Given the description of an element on the screen output the (x, y) to click on. 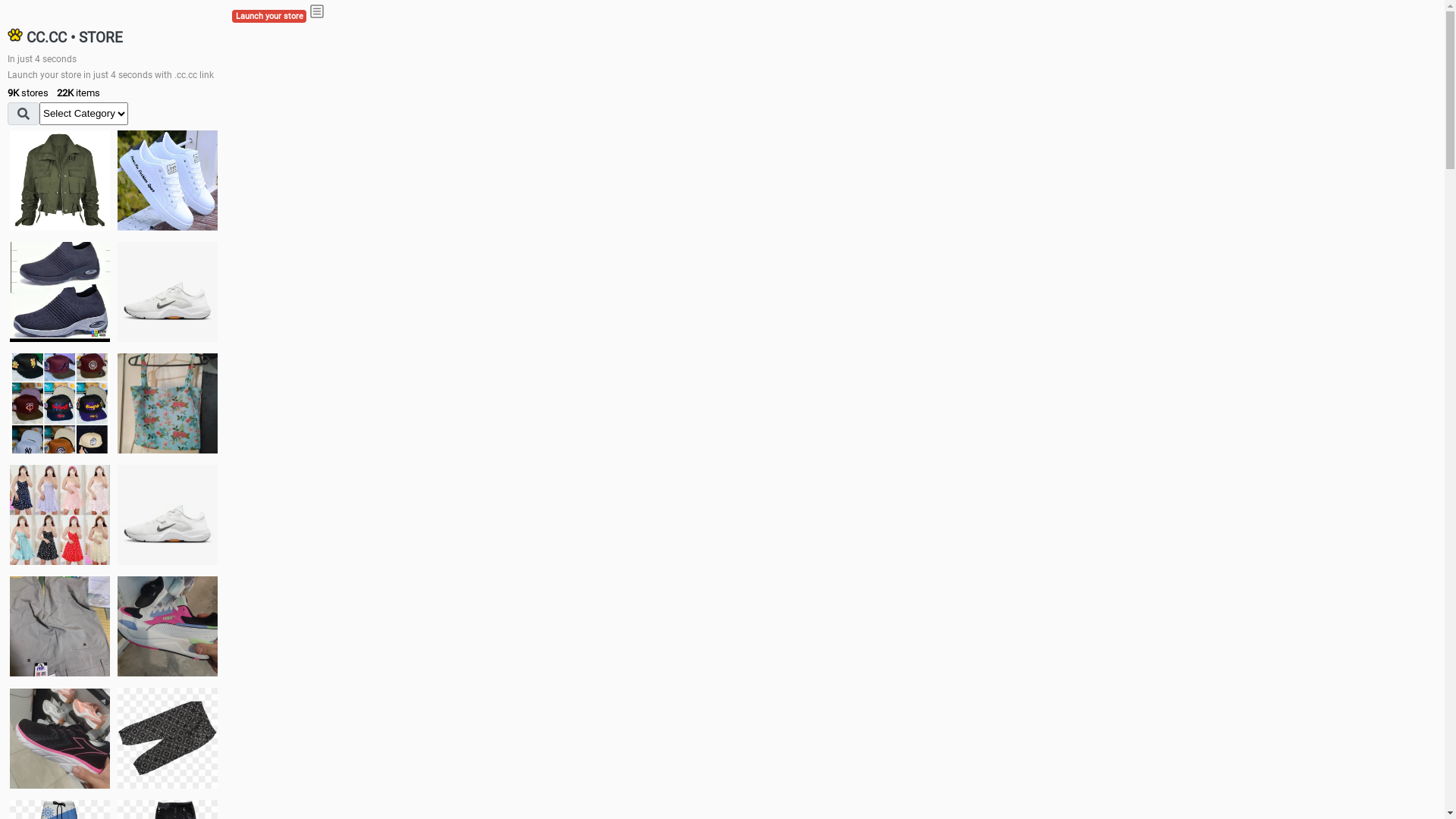
Dress/square nect top Element type: hover (59, 514)
Shoes for boys Element type: hover (167, 291)
Launch your store Element type: text (269, 15)
Short pant Element type: hover (167, 737)
jacket Element type: hover (59, 180)
Zapatillas pumas Element type: hover (167, 626)
white shoes Element type: hover (167, 180)
Ukay cloth Element type: hover (167, 403)
shoes for boys Element type: hover (59, 291)
Zapatillas Element type: hover (59, 738)
Shoes Element type: hover (167, 514)
Things we need Element type: hover (59, 403)
